Given the description of an element on the screen output the (x, y) to click on. 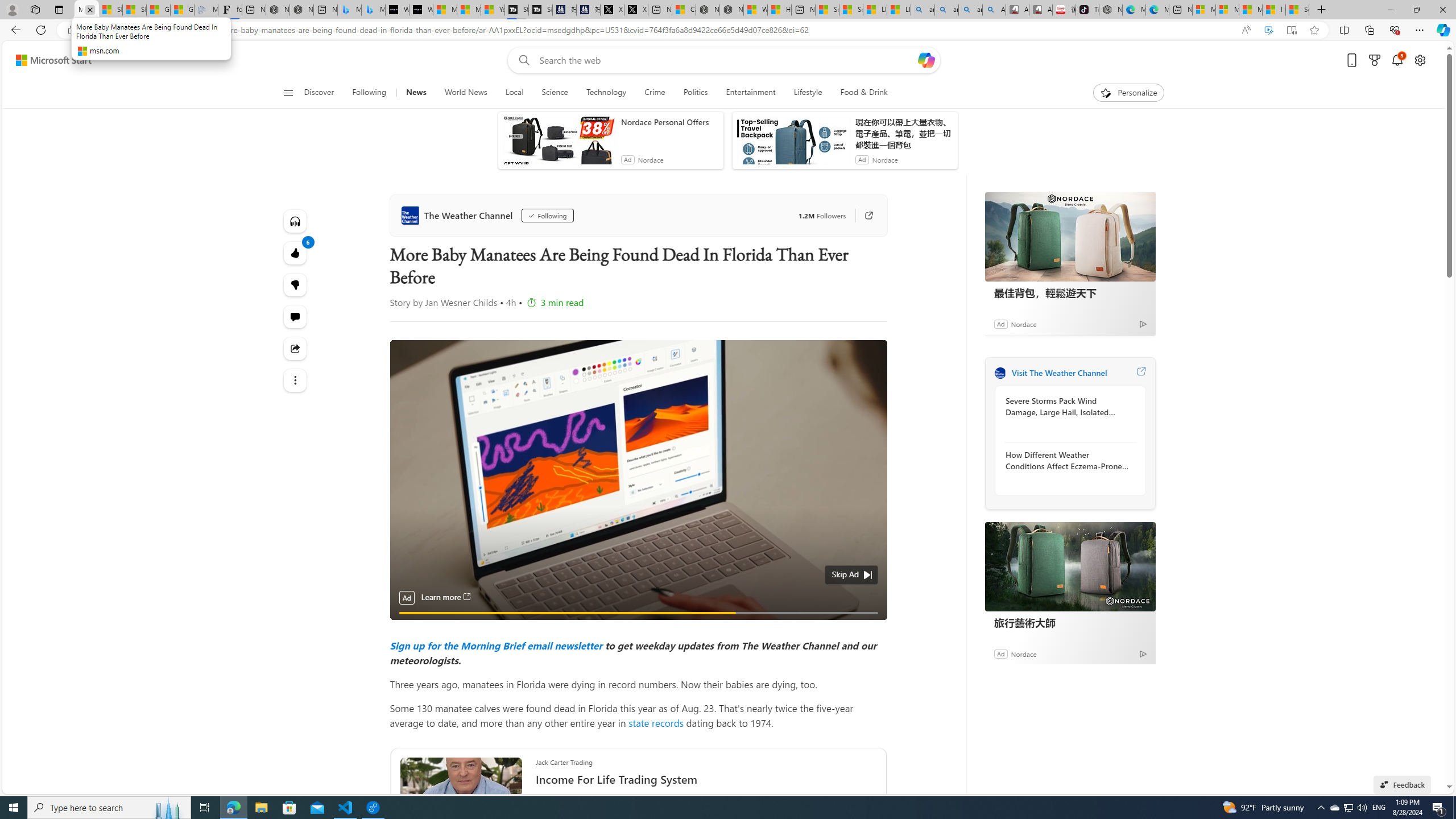
Microsoft Start Sports (444, 9)
Gilma and Hector both pose tropical trouble for Hawaii (182, 9)
All Cubot phones (1041, 9)
Nordace - Summer Adventures 2024 (731, 9)
Close tab (89, 9)
Restore (1416, 9)
Discover (323, 92)
Nordace - #1 Japanese Best-Seller - Siena Smart Backpack (301, 9)
News (416, 92)
Listen to this article (295, 220)
Nordace - Best Sellers (1110, 9)
Enter Immersive Reader (F9) (1291, 29)
